Given the description of an element on the screen output the (x, y) to click on. 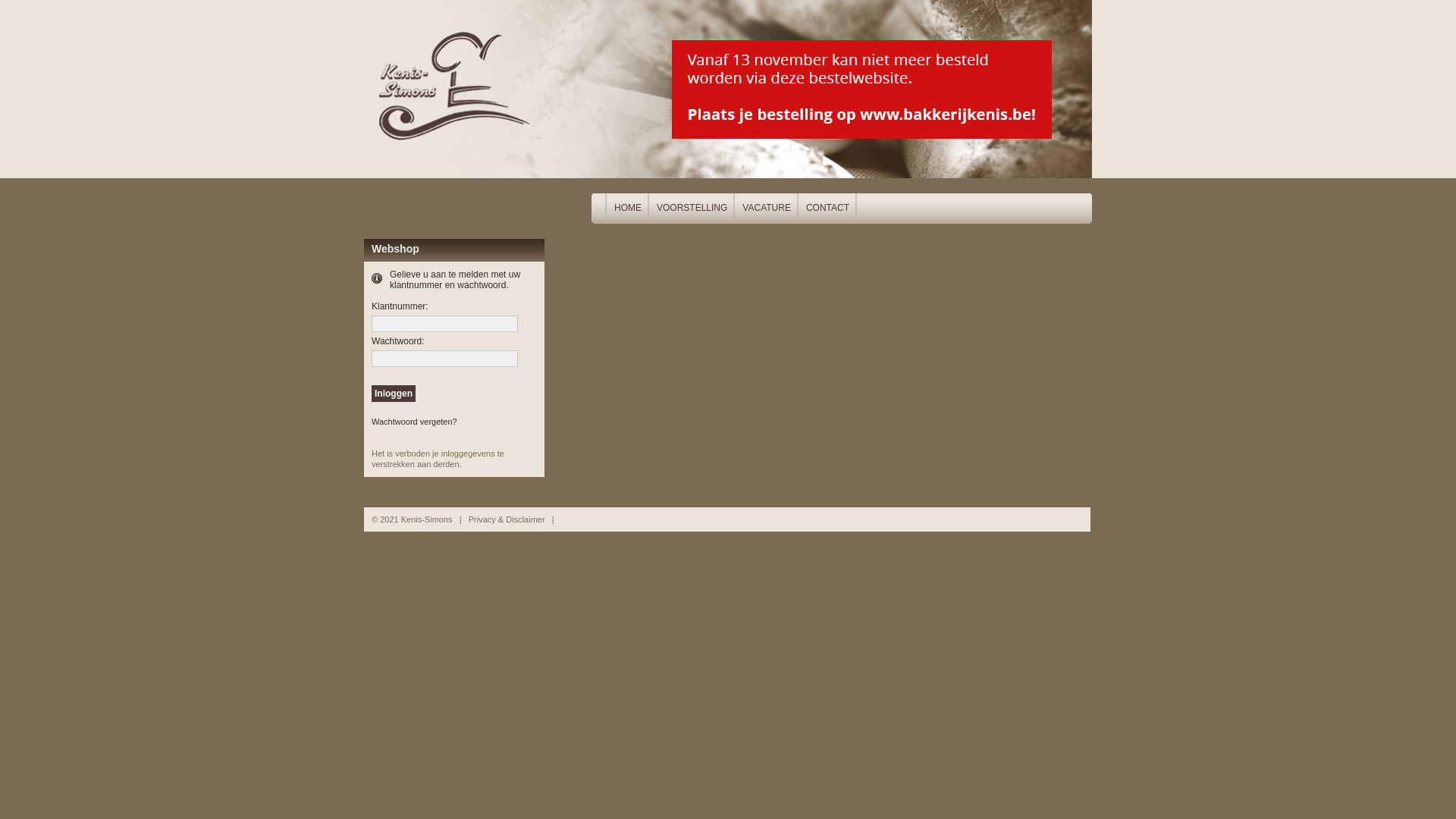
Inloggen Element type: text (393, 393)
VOORSTELLING Element type: text (691, 208)
VACATURE Element type: text (766, 208)
Wachtwoord vergeten? Element type: text (414, 421)
CONTACT Element type: text (827, 208)
Privacy & Disclaimer Element type: text (506, 519)
HOME Element type: text (627, 208)
